Given the description of an element on the screen output the (x, y) to click on. 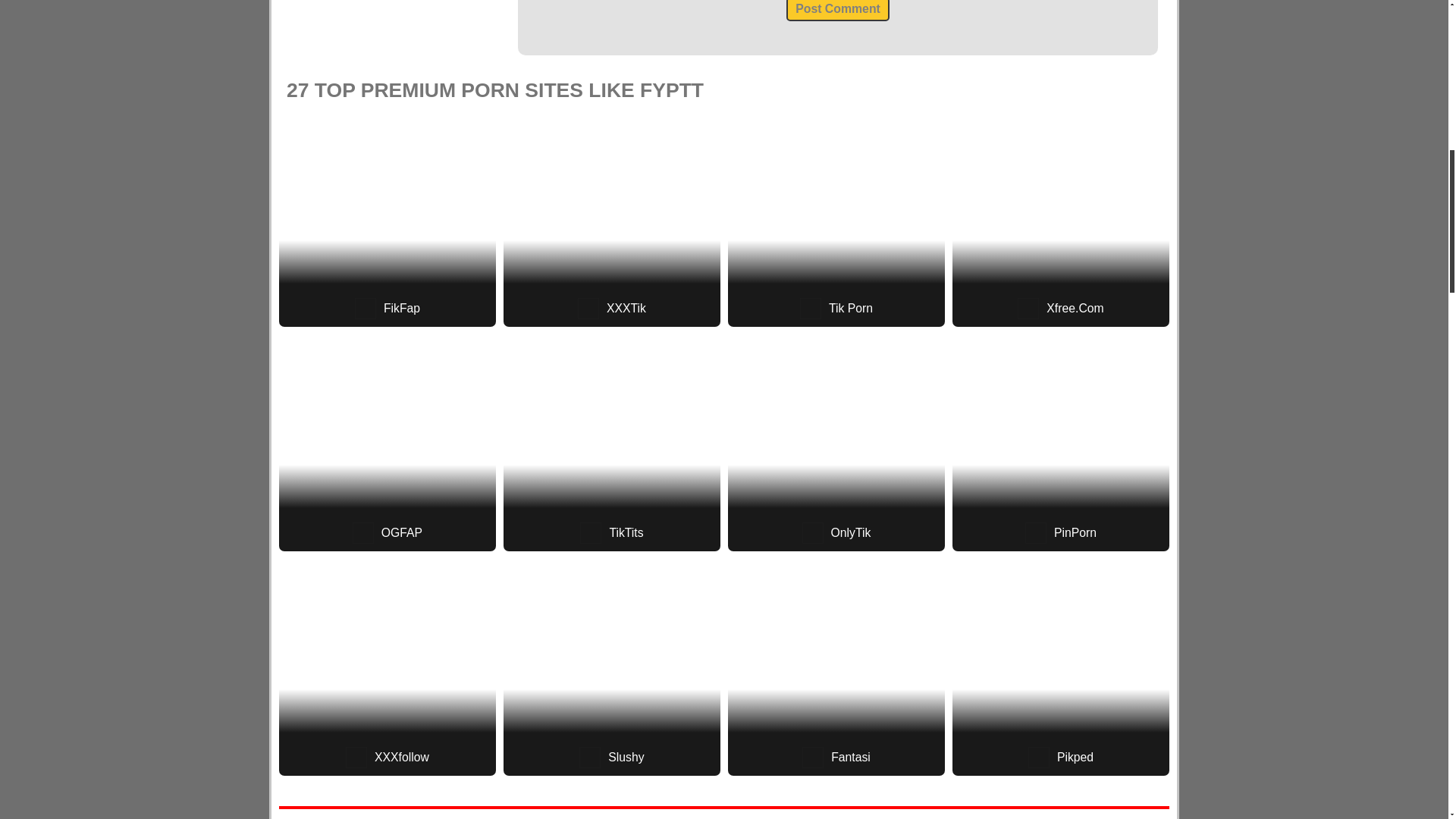
Post Comment (837, 10)
